Given the description of an element on the screen output the (x, y) to click on. 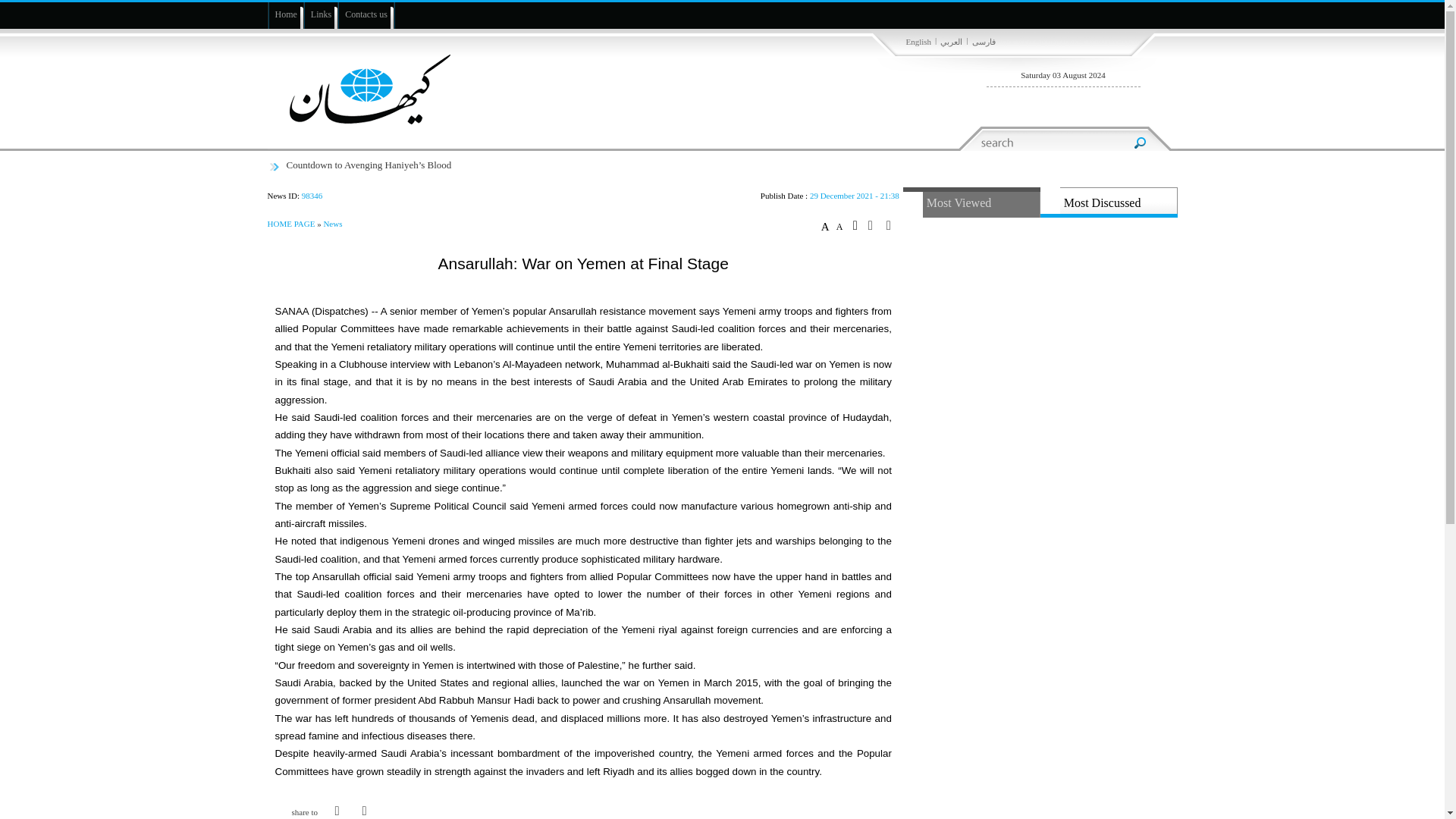
Home (284, 14)
Most Discussed (1109, 202)
Most Viewed (971, 202)
share to (298, 811)
Save (858, 224)
English (918, 41)
Send to friends (874, 225)
Contacts us (366, 14)
A (841, 226)
Print (892, 225)
Send to friends (364, 818)
share to (298, 811)
A (827, 226)
Links (320, 14)
News (332, 223)
